Given the description of an element on the screen output the (x, y) to click on. 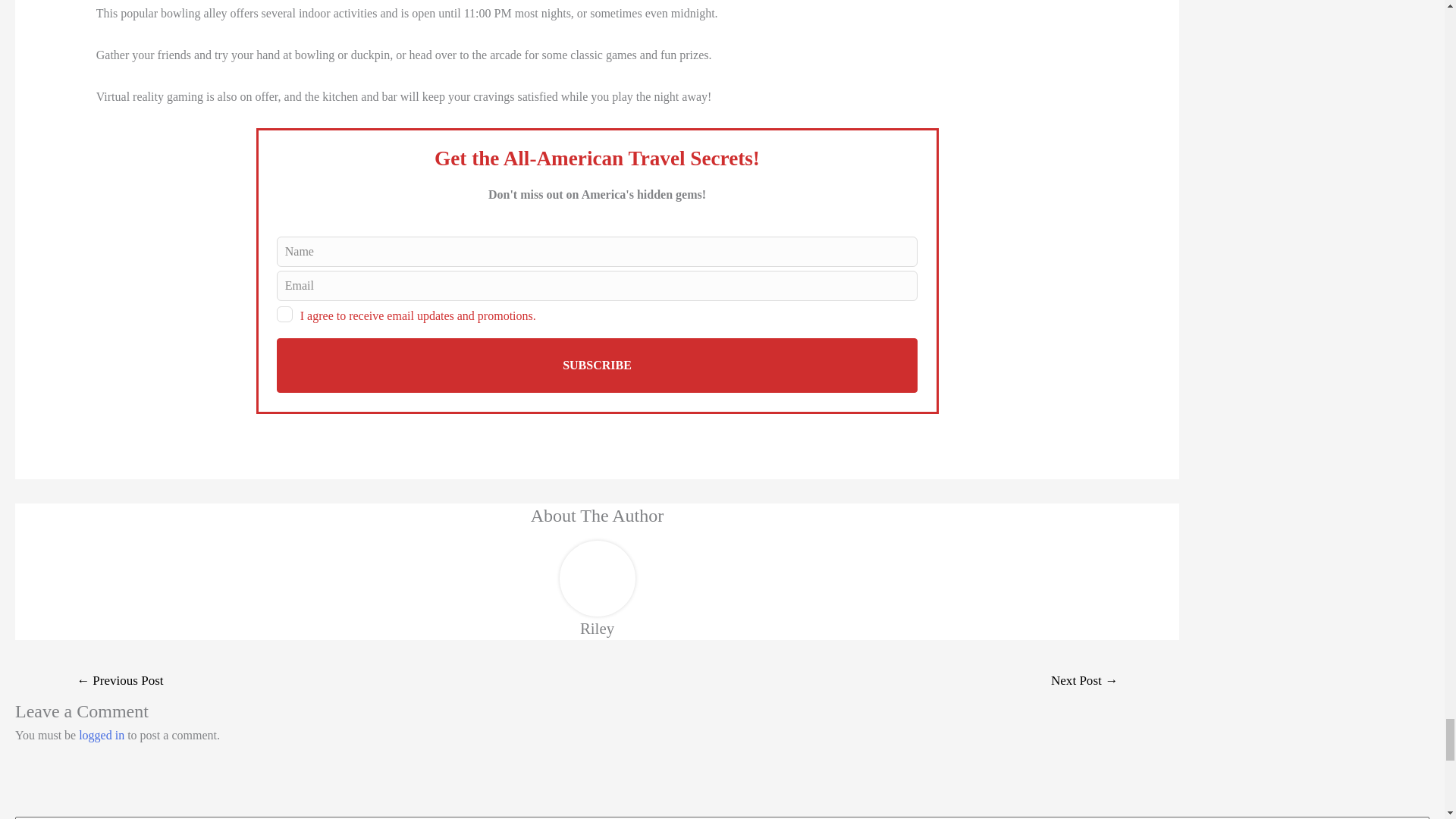
Search (1411, 817)
Search (1411, 817)
